Given the description of an element on the screen output the (x, y) to click on. 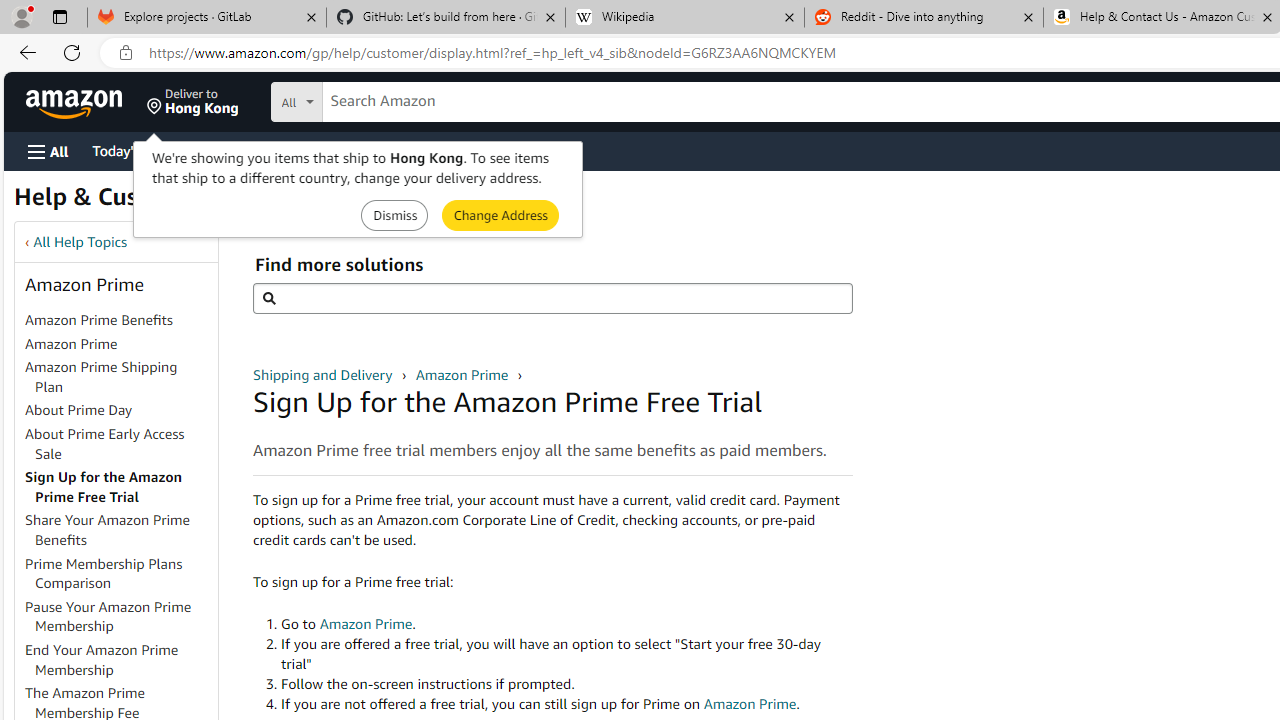
Amazon (76, 101)
About Prime Early Access Sale (105, 443)
About Prime Day (79, 410)
Share Your Amazon Prime Benefits (107, 529)
Gift Cards (442, 150)
Submit (499, 214)
Find more solutions (552, 297)
Prime Membership Plans Comparison (104, 573)
Skip to main content (86, 100)
Pause Your Amazon Prime Membership (108, 615)
Wikipedia (684, 17)
Customer Service (256, 150)
